Given the description of an element on the screen output the (x, y) to click on. 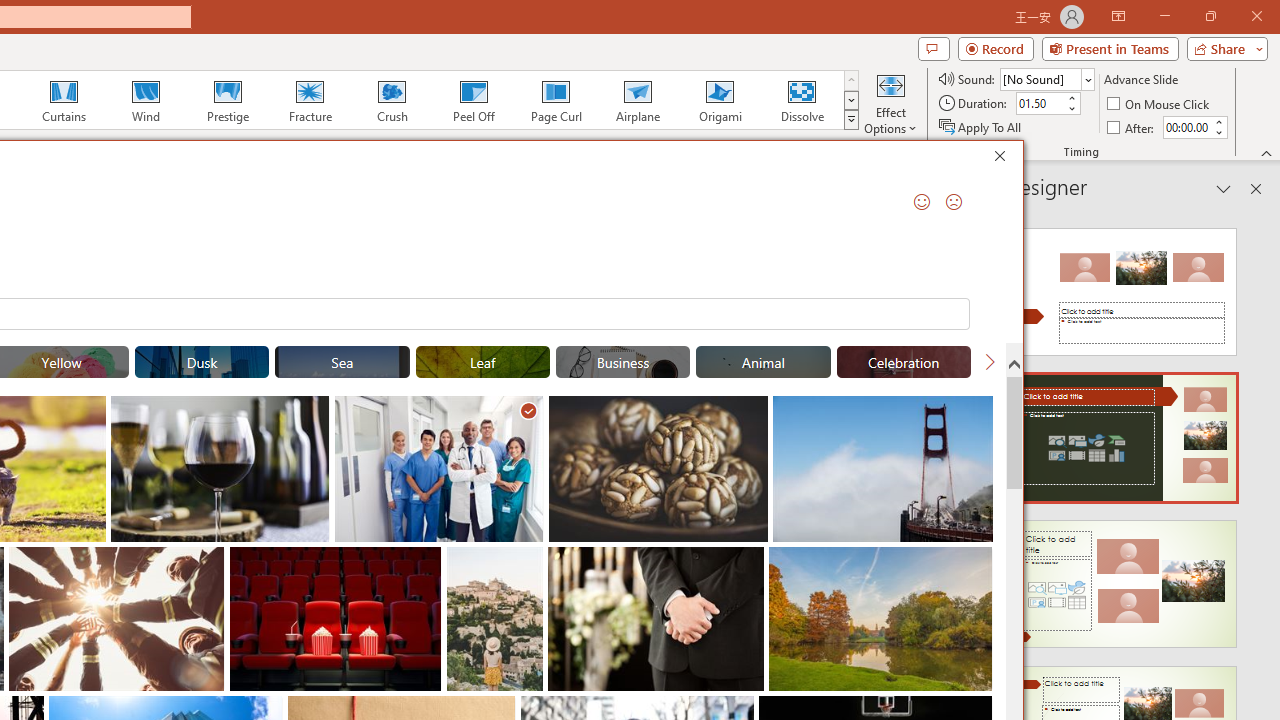
"Celebration" Stock Images. (904, 362)
Open (1087, 79)
Record (995, 48)
Comments (933, 48)
Sound (1046, 78)
Close (1005, 158)
Transition Effects (850, 120)
Fracture (309, 100)
